Given the description of an element on the screen output the (x, y) to click on. 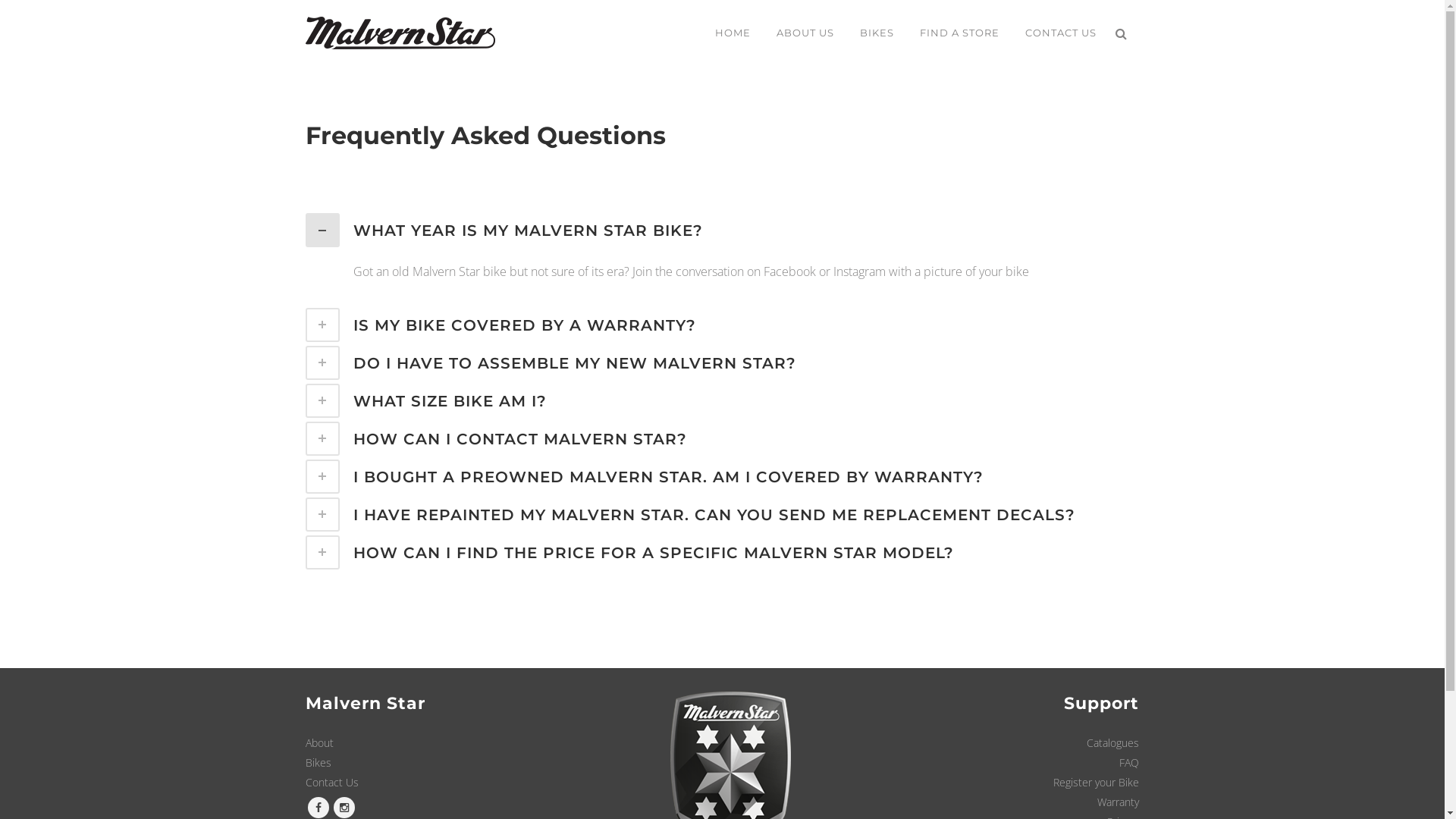
Catalogues Element type: text (1112, 742)
About Element type: text (318, 742)
Contact Us Element type: text (330, 782)
Register your Bike Element type: text (1096, 782)
Warranty Element type: text (1118, 801)
Bikes Element type: text (317, 762)
BIKES Element type: text (876, 32)
FIND A STORE Element type: text (959, 32)
CONTACT US Element type: text (1059, 32)
ABOUT US Element type: text (804, 32)
HOME Element type: text (732, 32)
FAQ Element type: text (1129, 762)
